Given the description of an element on the screen output the (x, y) to click on. 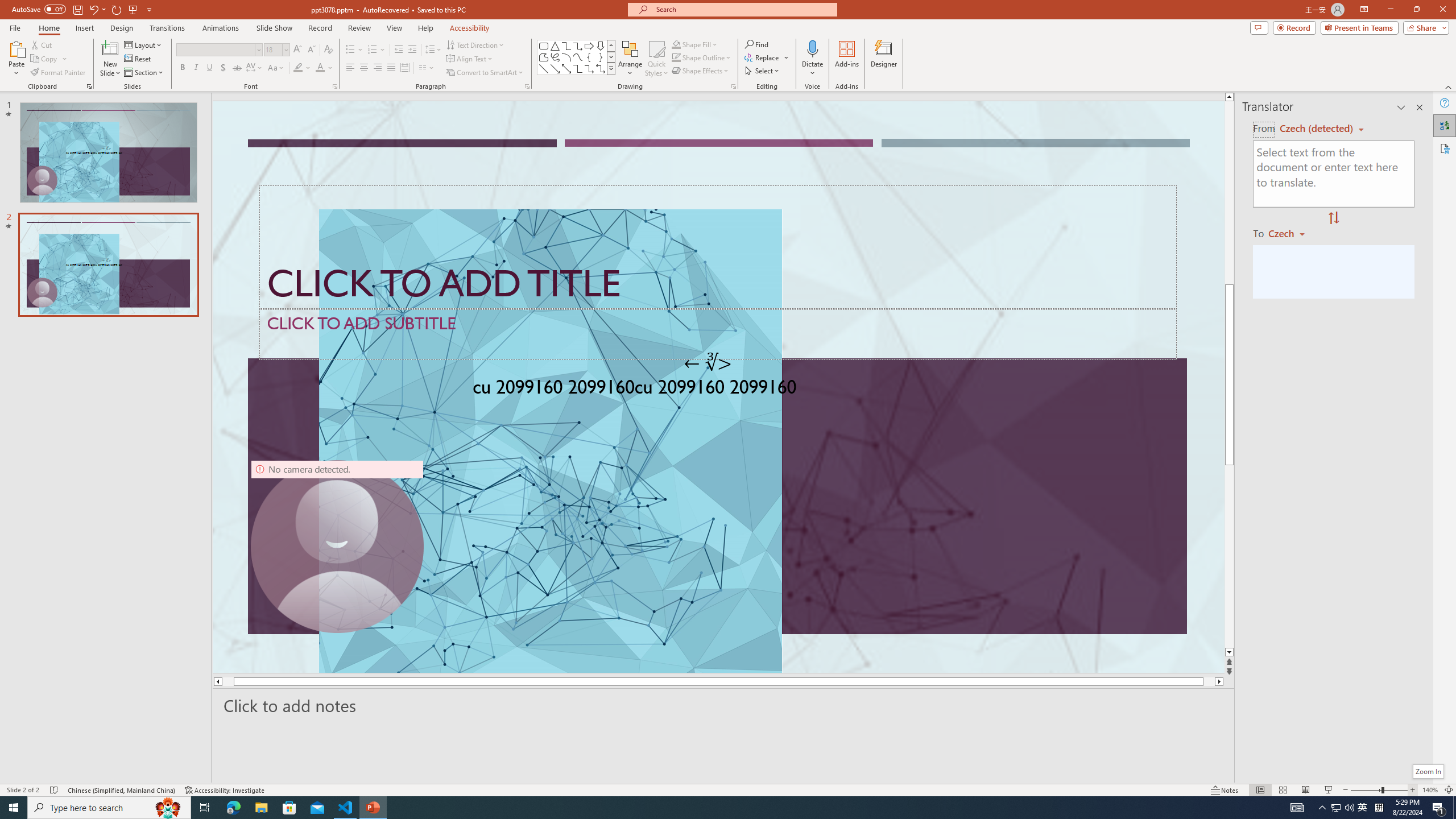
Subtitle TextBox (717, 333)
